Given the description of an element on the screen output the (x, y) to click on. 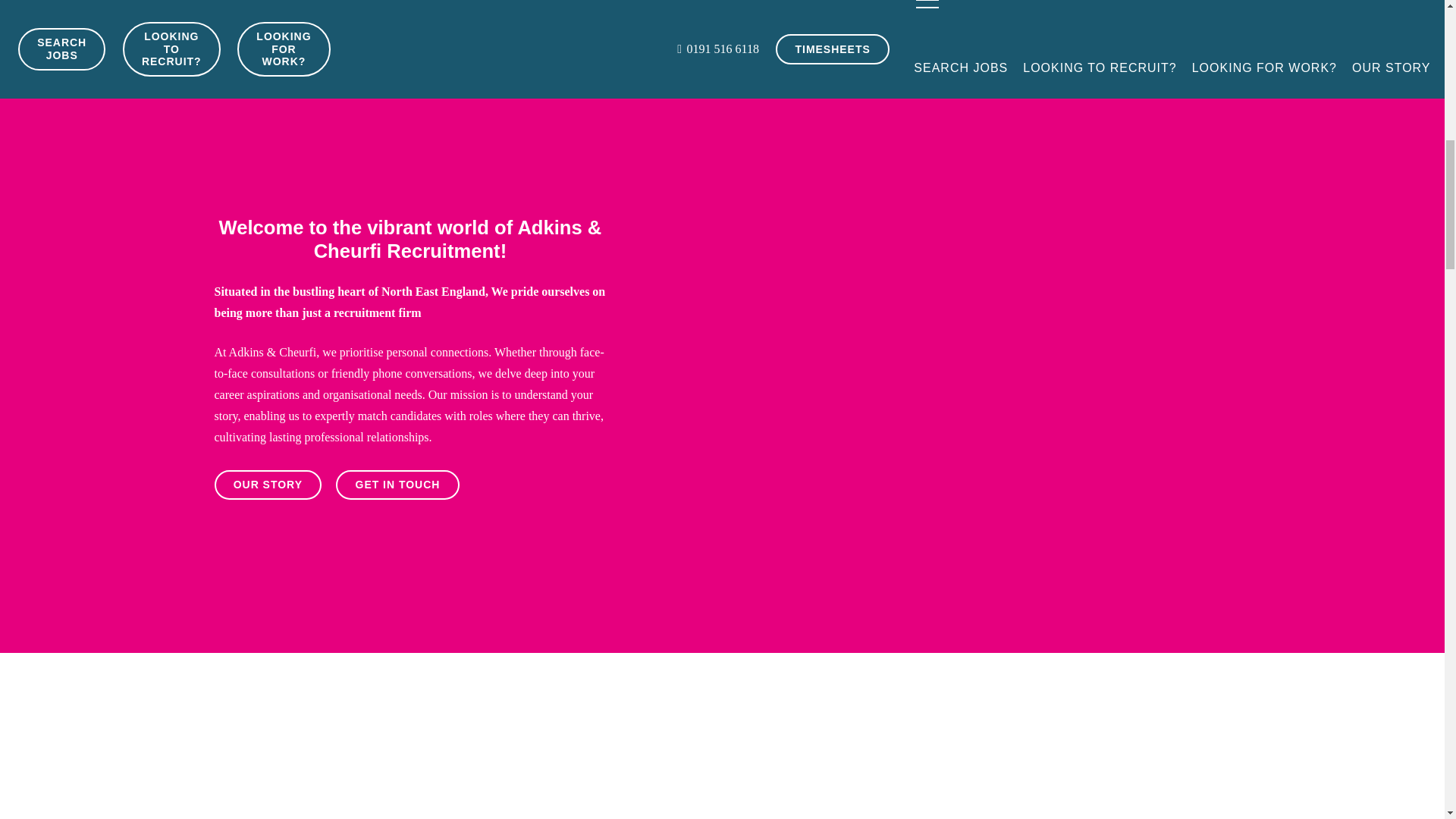
GET IN TOUCH (397, 484)
OUR STORY (267, 484)
Back to top (1413, 26)
